Given the description of an element on the screen output the (x, y) to click on. 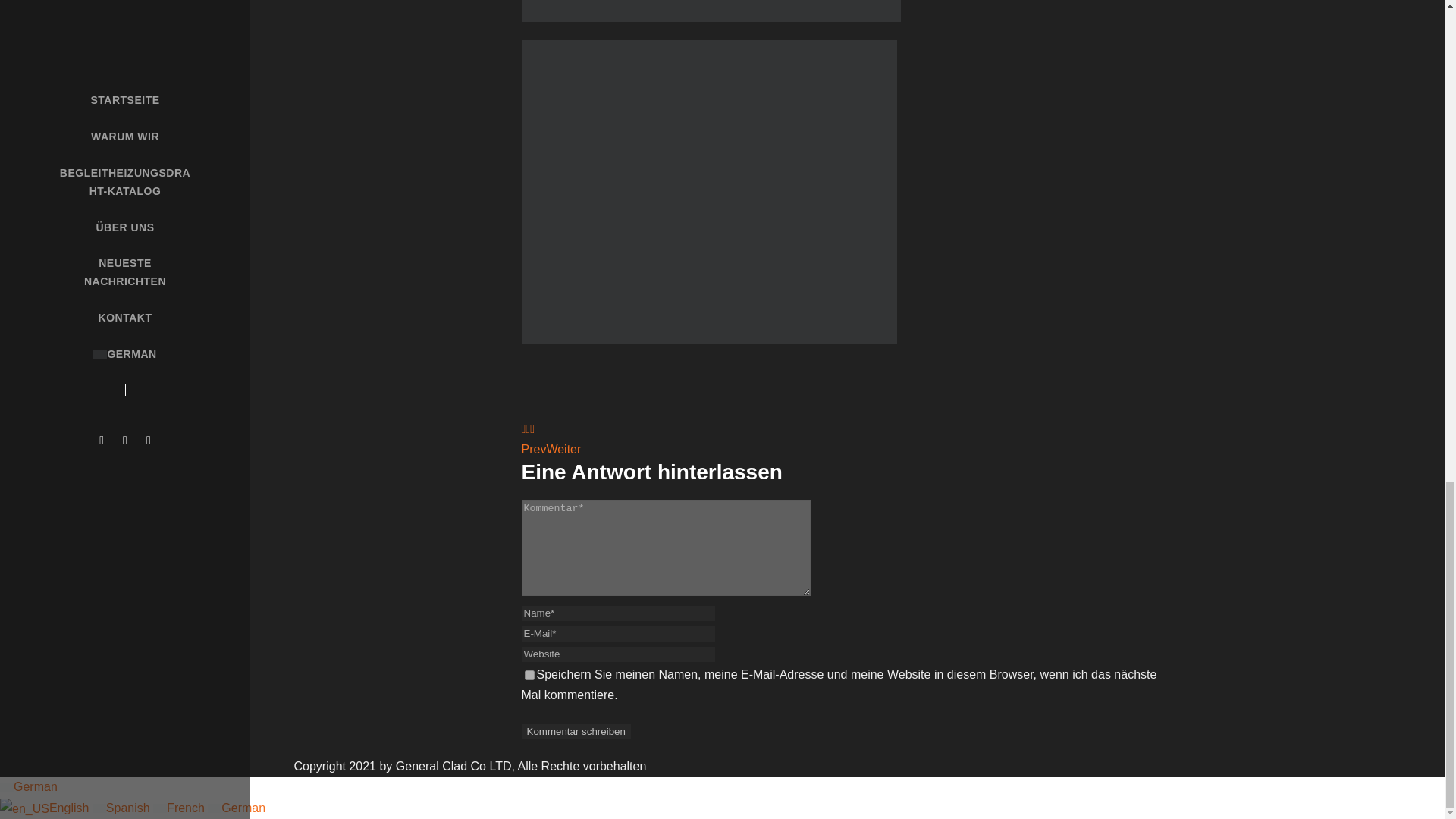
Prev (534, 449)
English (46, 807)
yes (529, 675)
French (180, 807)
Spanish (122, 807)
English (46, 807)
Kommentar schreiben (575, 731)
Kommentar schreiben (575, 731)
Weiter (563, 449)
German (6, 787)
German (29, 786)
